Given the description of an element on the screen output the (x, y) to click on. 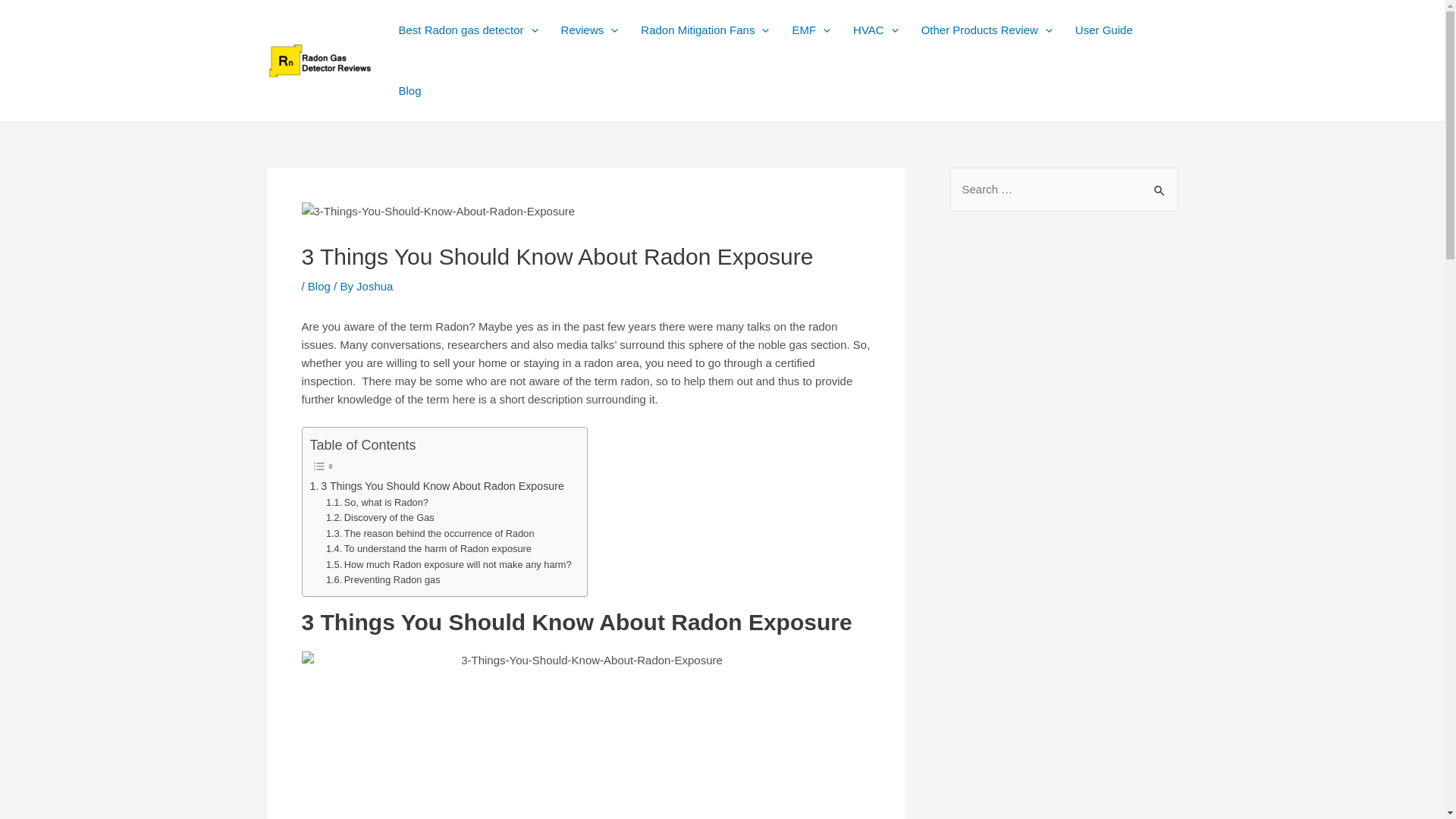
View all posts by Joshua (374, 286)
Best Radon gas detector (467, 30)
The reason behind the occurrence of Radon (430, 534)
3 Things You Should Know About Radon Exposure (435, 486)
Discovery of the Gas (379, 518)
How much Radon exposure will not make any harm? (449, 565)
So, what is Radon? (377, 503)
Preventing Radon gas (383, 580)
Search (1159, 183)
HVAC (875, 30)
